Given the description of an element on the screen output the (x, y) to click on. 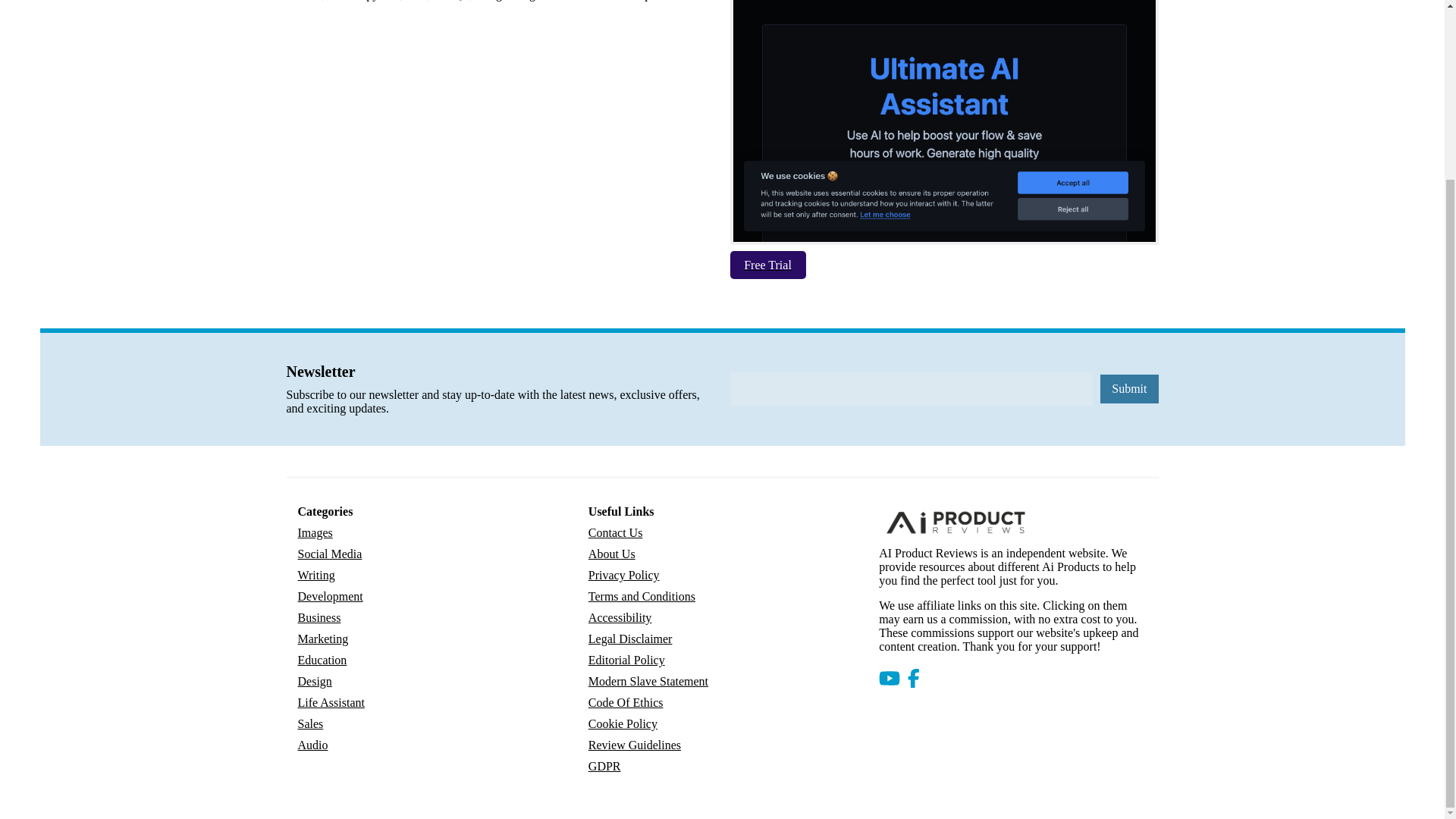
Contact Us (615, 532)
Business (318, 617)
Free Trial (769, 266)
Cookie Policy (623, 723)
Marketing (322, 639)
Review Guidelines (634, 744)
Writing (315, 575)
Social Media (329, 554)
Life Assistant (330, 702)
Modern Slave Statement (647, 681)
